Given the description of an element on the screen output the (x, y) to click on. 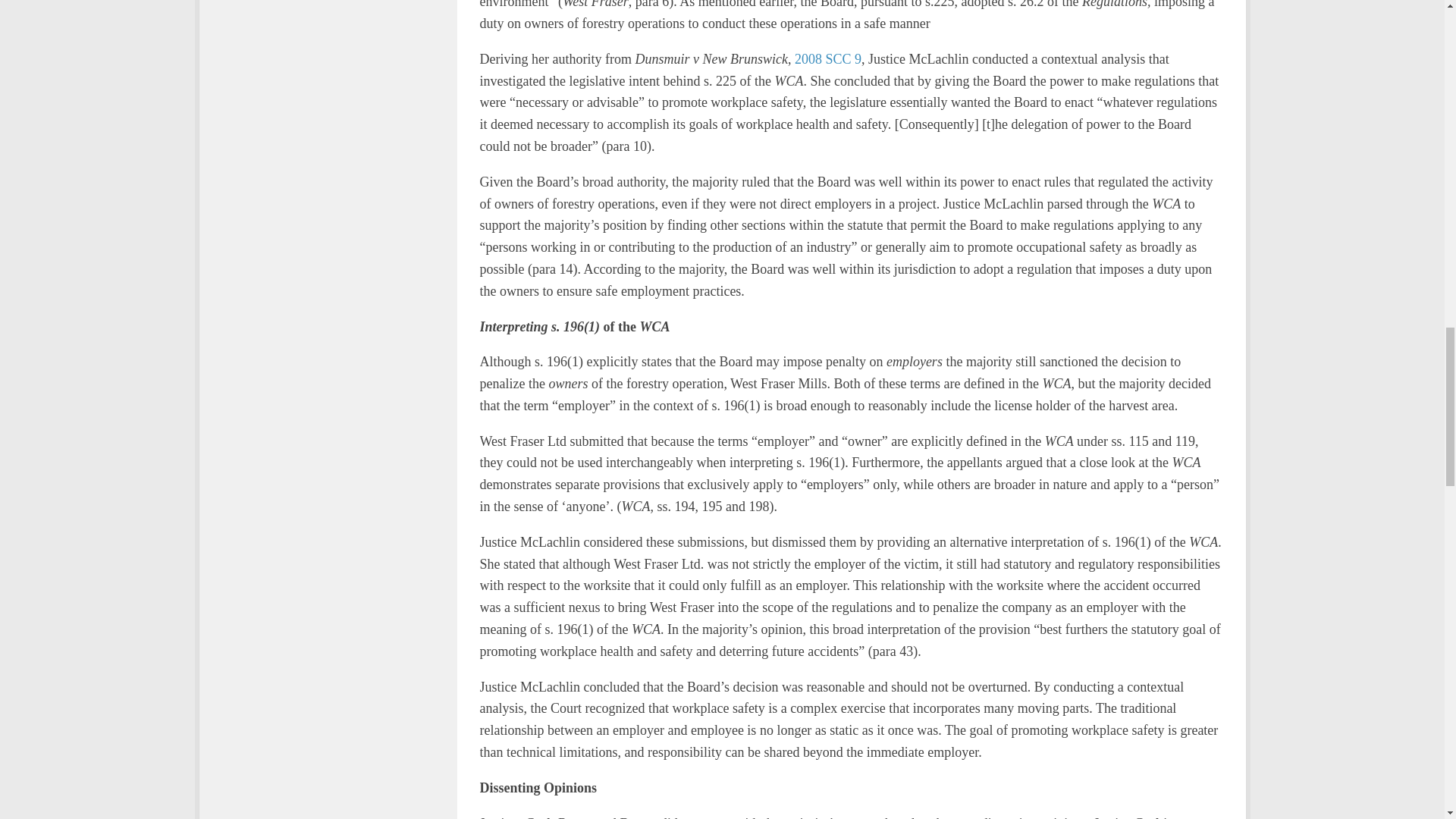
2008 SCC 9 (827, 58)
